Given the description of an element on the screen output the (x, y) to click on. 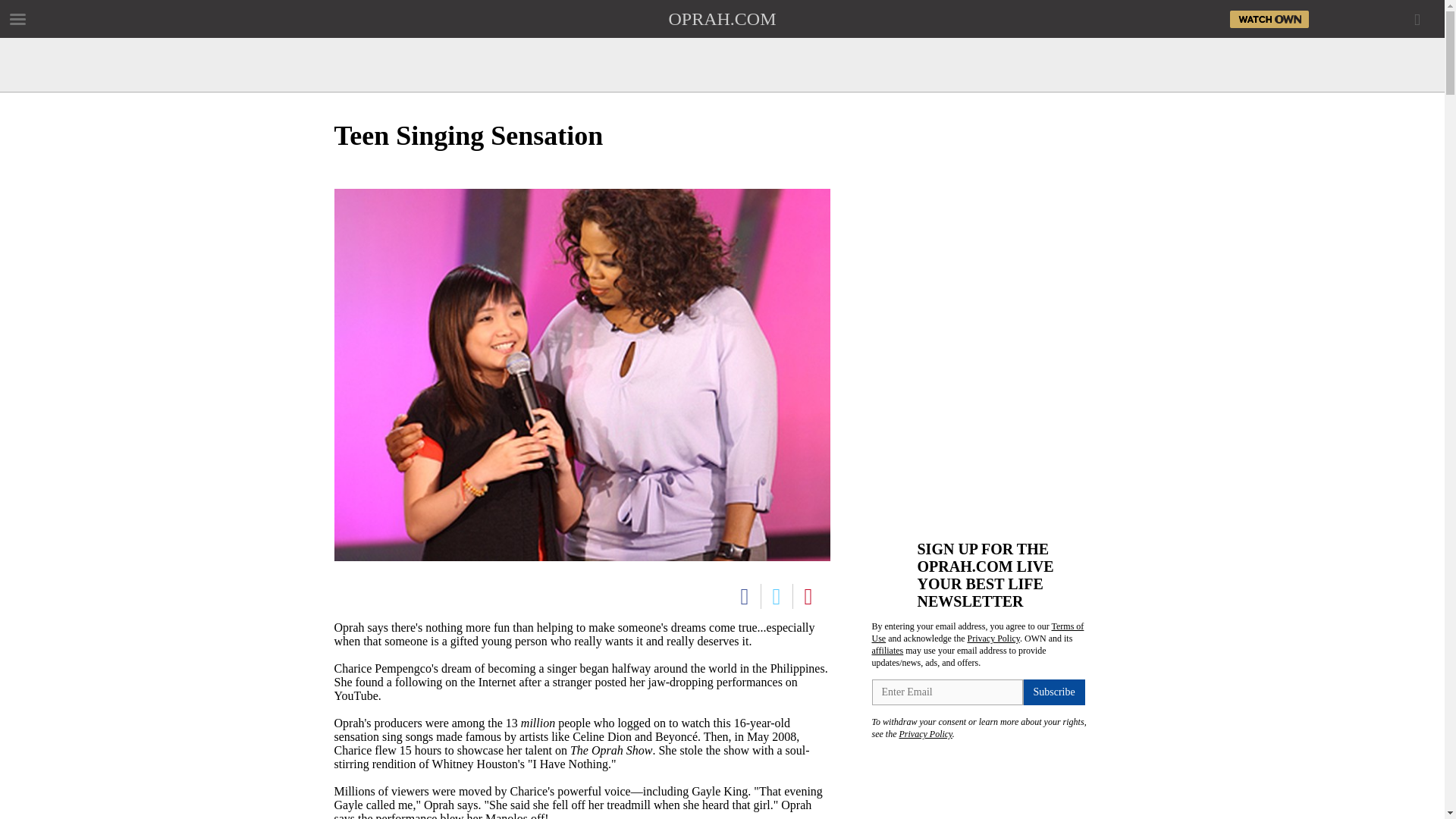
3rd party ad content (985, 218)
Privacy Policy (925, 733)
3rd party ad content (985, 422)
3rd party ad content (721, 46)
Privacy Policy (993, 638)
Terms of Use (978, 631)
OPRAH.COM (721, 18)
affiliates (888, 650)
